Given the description of an element on the screen output the (x, y) to click on. 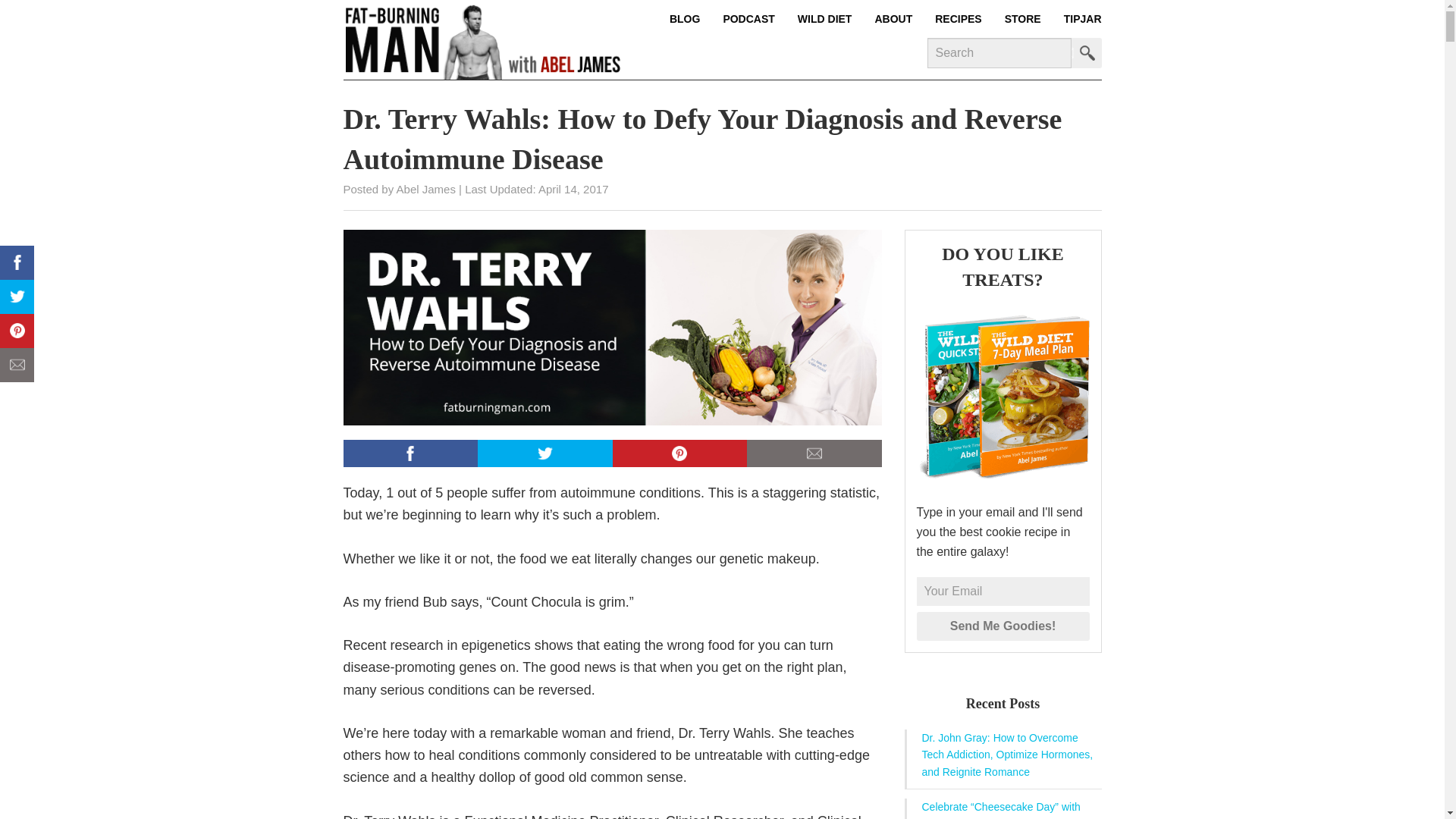
STORE (1021, 18)
Abel James (425, 188)
BLOG (689, 18)
RECIPES (958, 18)
Fat-Burning Man (482, 39)
ABOUT (892, 18)
share with: facebook (409, 452)
share with: pinterest (680, 452)
TIPJAR (1077, 18)
